Given the description of an element on the screen output the (x, y) to click on. 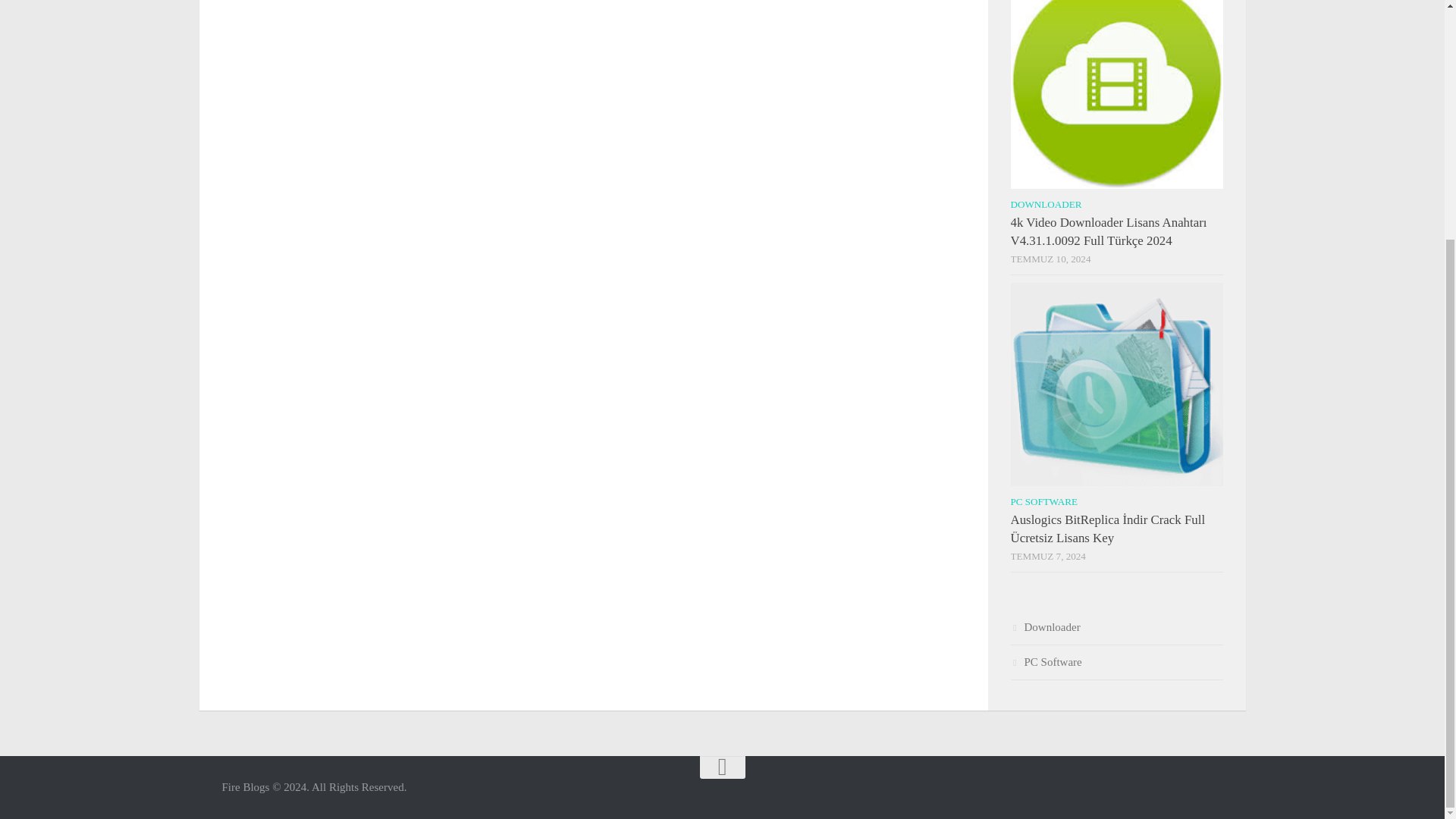
DOWNLOADER (1045, 204)
PC SOFTWARE (1043, 501)
PC Software (1045, 662)
Downloader (1045, 626)
